Given the description of an element on the screen output the (x, y) to click on. 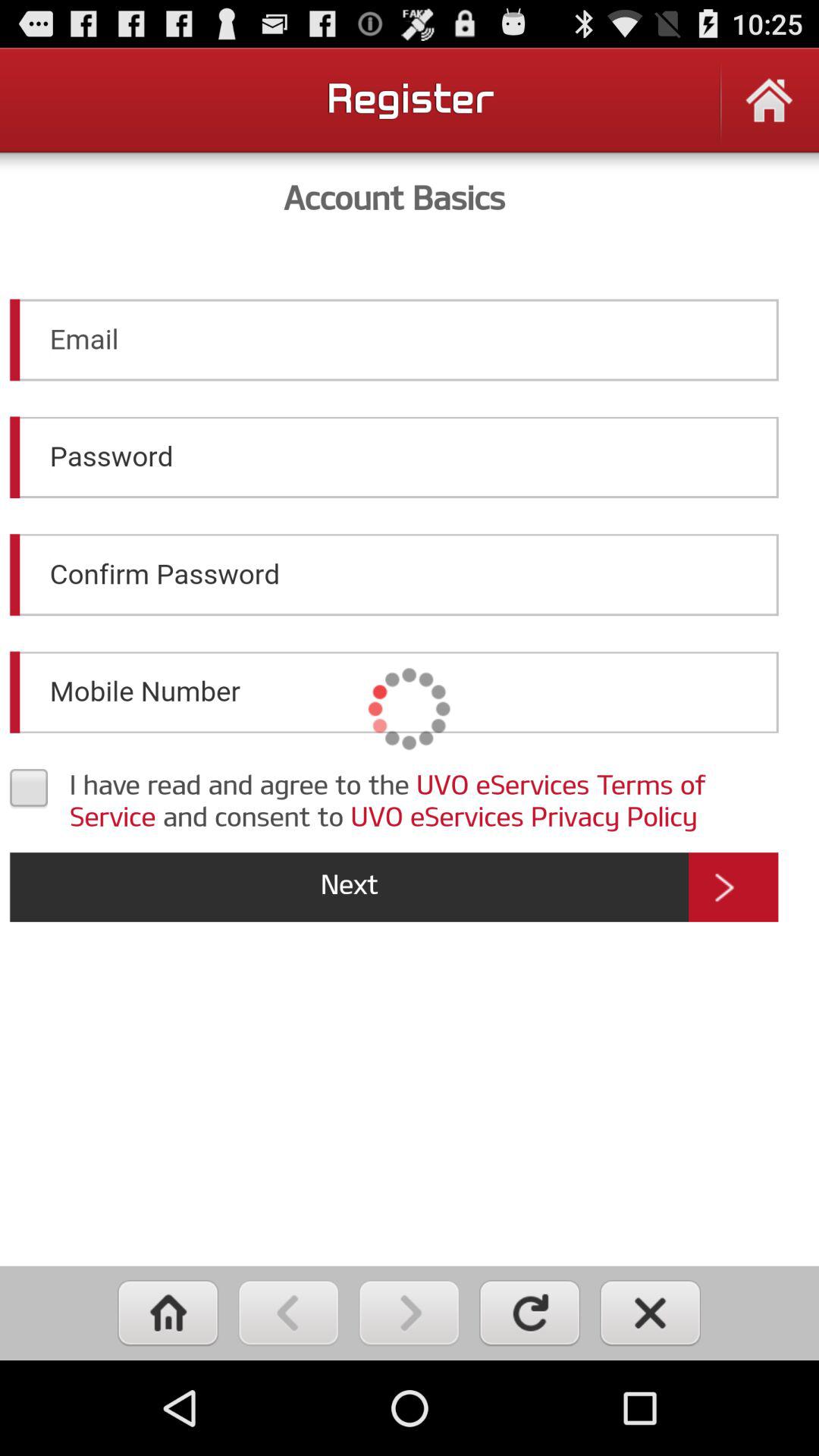
go to main menu option (167, 1313)
